Given the description of an element on the screen output the (x, y) to click on. 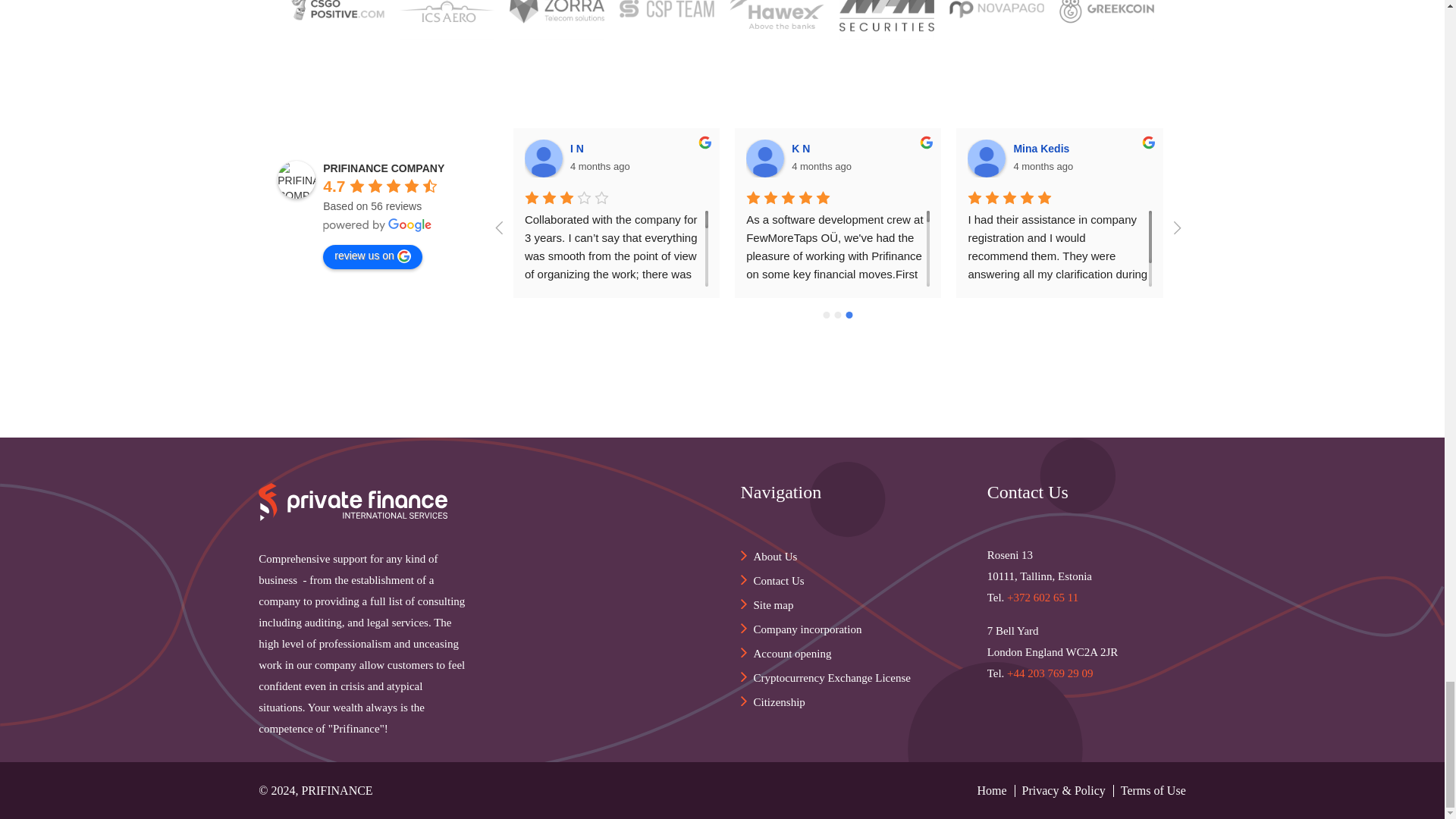
powered by Google (377, 224)
PRIFINANCE COMPANY (296, 179)
K N (764, 158)
Mina Kedis (987, 158)
I N (543, 158)
